Given the description of an element on the screen output the (x, y) to click on. 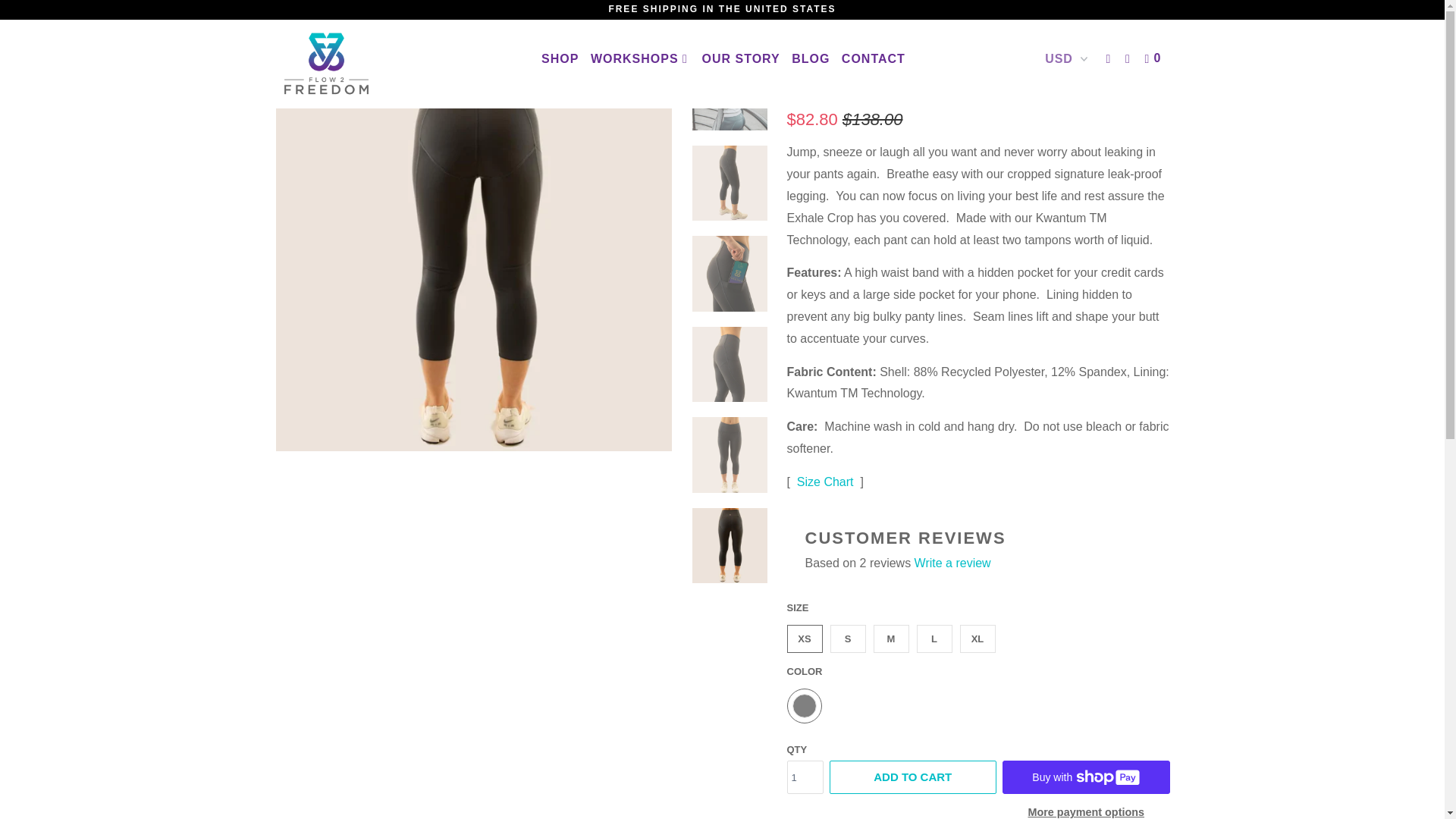
CONTACT (873, 58)
BLOG (810, 58)
Size Chart (824, 481)
OUR STORY (740, 58)
0 (1154, 58)
Flow 2 Freedom Apparel Inc. (289, 31)
Flow 2 Freedom Apparel Inc. (352, 63)
1 (805, 776)
Leakproof Collection (370, 31)
WORKSHOPS (640, 58)
Leakproof Collection (370, 31)
Home (289, 31)
SHOP (559, 58)
